Given the description of an element on the screen output the (x, y) to click on. 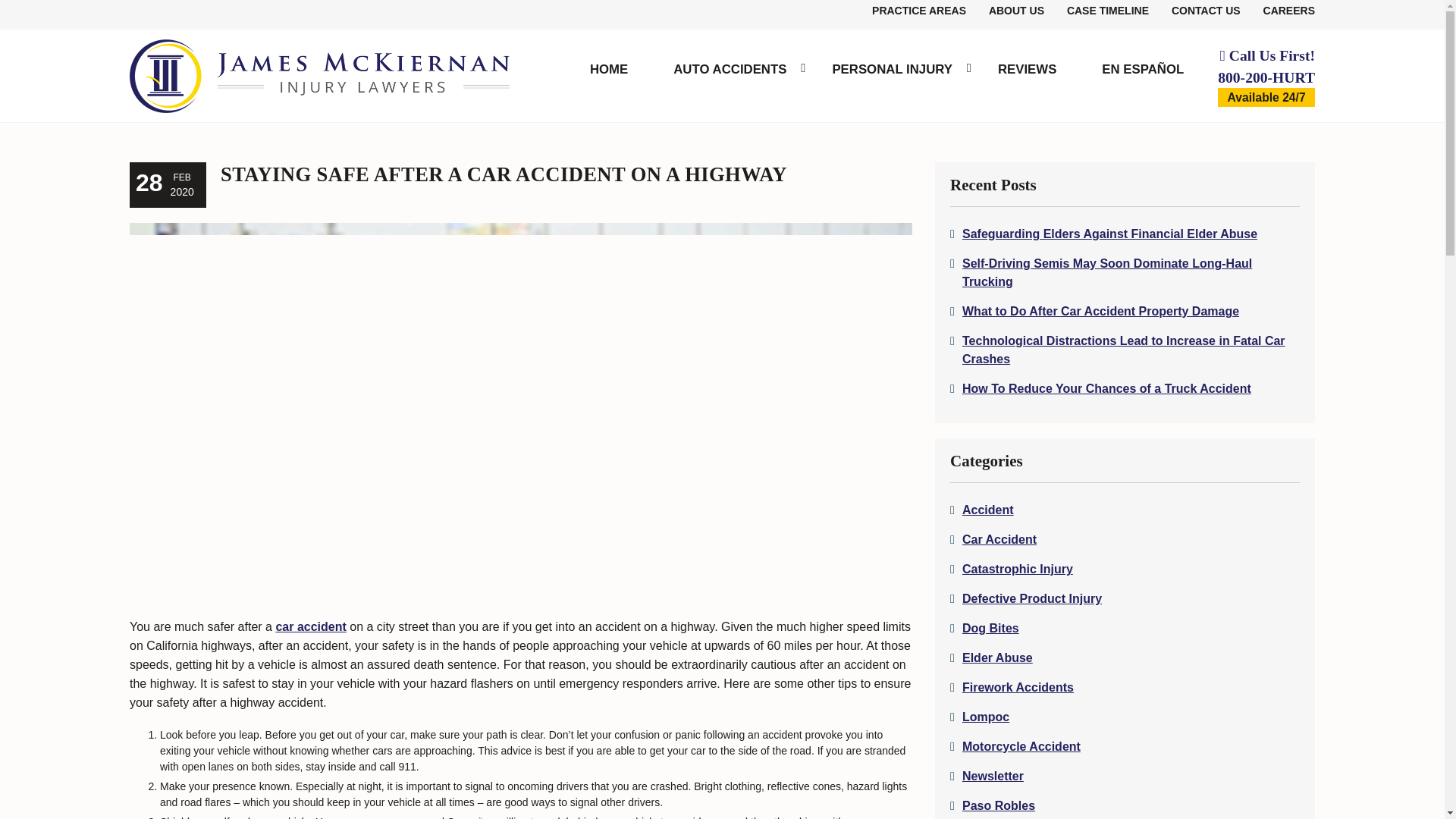
ABOUT US (1015, 10)
PERSONAL INJURY (892, 71)
CONTACT US (1206, 10)
CAREERS (1288, 10)
AUTO ACCIDENTS (729, 71)
HOME (608, 71)
CASE TIMELINE (1107, 10)
PRACTICE AREAS (919, 10)
REVIEWS (1026, 71)
